Given the description of an element on the screen output the (x, y) to click on. 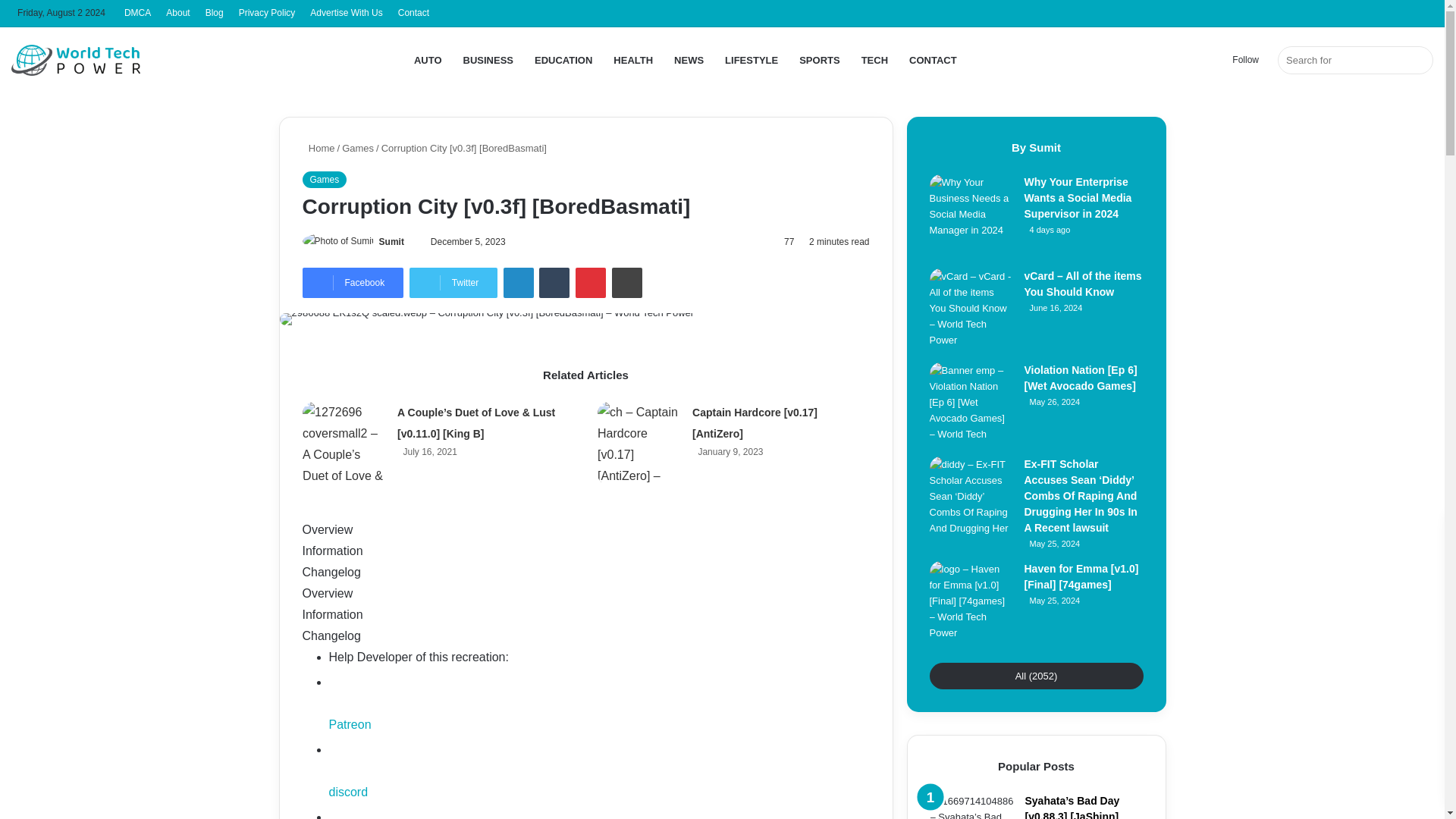
LinkedIn (518, 282)
World Tech Power (75, 60)
Home (317, 147)
Advertise With Us (346, 13)
DMCA (137, 13)
Search for (1355, 59)
LinkedIn (518, 282)
Facebook (352, 282)
Games (358, 147)
Facebook (352, 282)
CONTACT (933, 60)
EDUCATION (563, 60)
HEALTH (632, 60)
Contact (413, 13)
BUSINESS (488, 60)
